Given the description of an element on the screen output the (x, y) to click on. 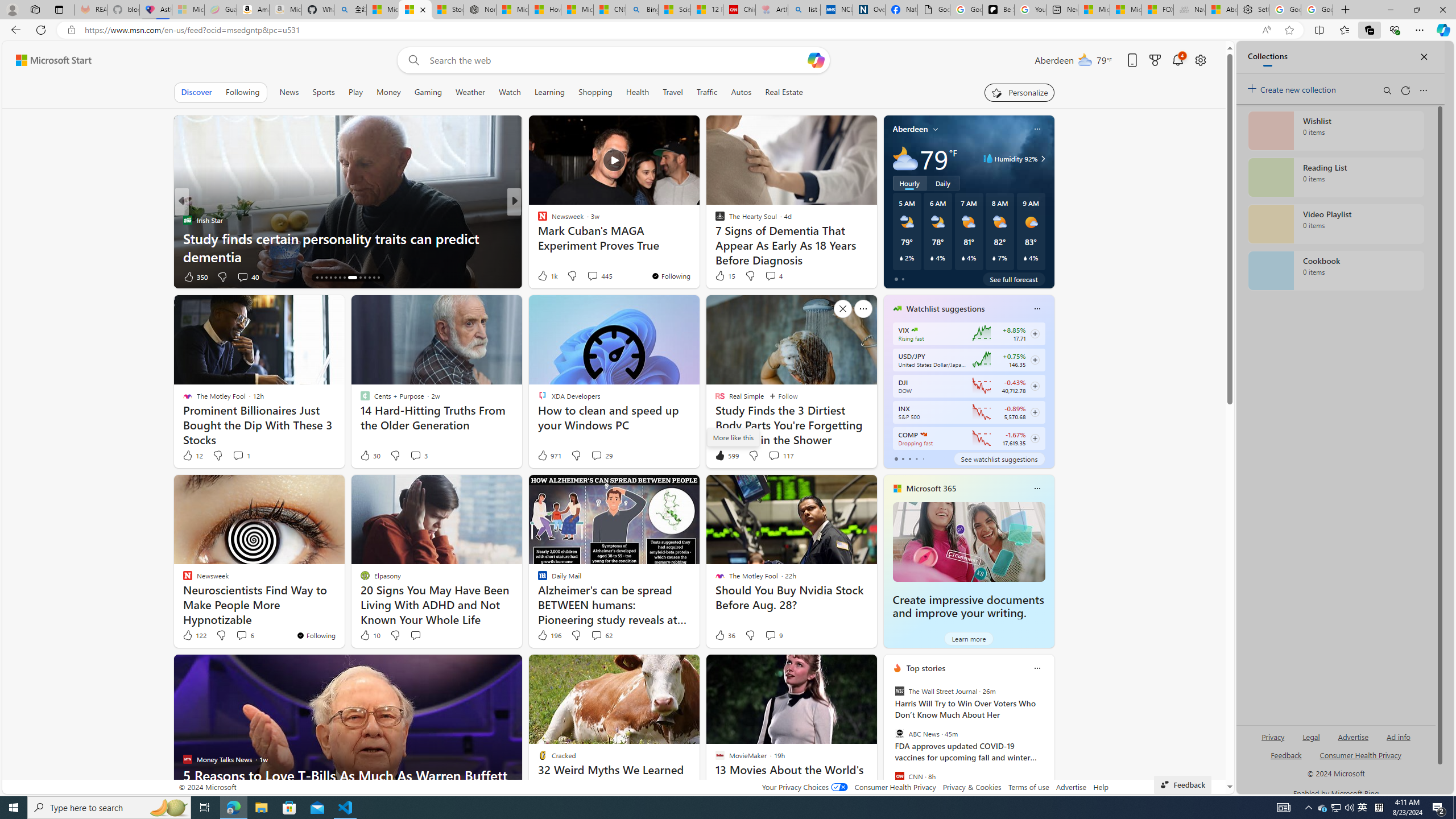
AutomationID: tab-15 (321, 277)
109 Like (545, 276)
View comments 40 Comment (247, 276)
Bored Panda (537, 219)
